Given the description of an element on the screen output the (x, y) to click on. 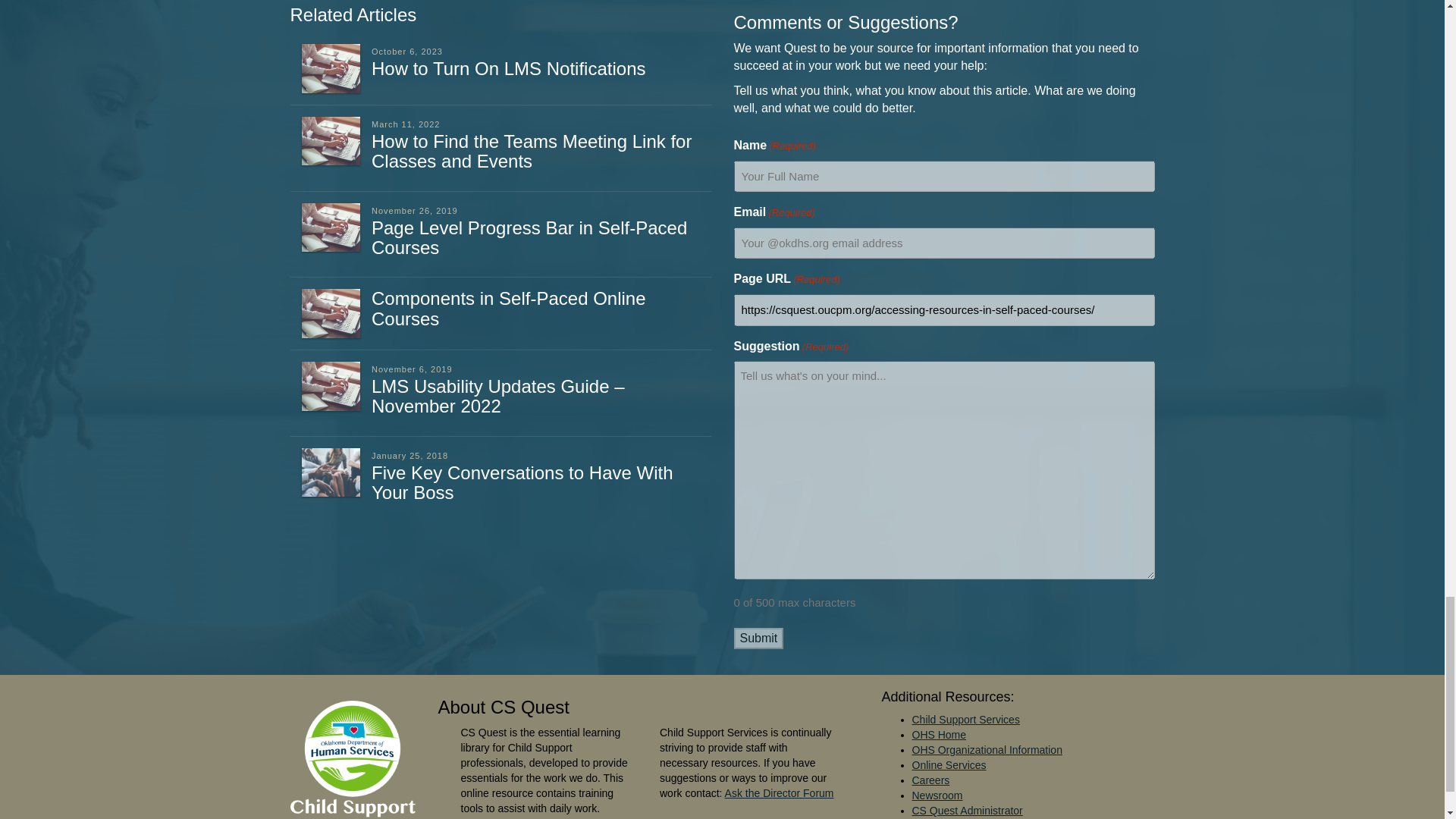
How to Find the Teams Meeting Link for Classes and Events (531, 151)
How to Turn On LMS Notifications (508, 68)
Online Services (948, 765)
Child Support Services (965, 719)
Page Level Progress Bar in Self-Paced Courses (529, 237)
Five Key Conversations to Have With Your Boss (521, 482)
Components in Self-Paced Online Courses (508, 308)
OHS Organizational Information (986, 749)
Submit (758, 639)
CS Quest Administrator (966, 810)
Submit (758, 639)
Ask the Director Forum (779, 793)
OHS Home (938, 734)
Newsroom (936, 795)
Careers (930, 779)
